Given the description of an element on the screen output the (x, y) to click on. 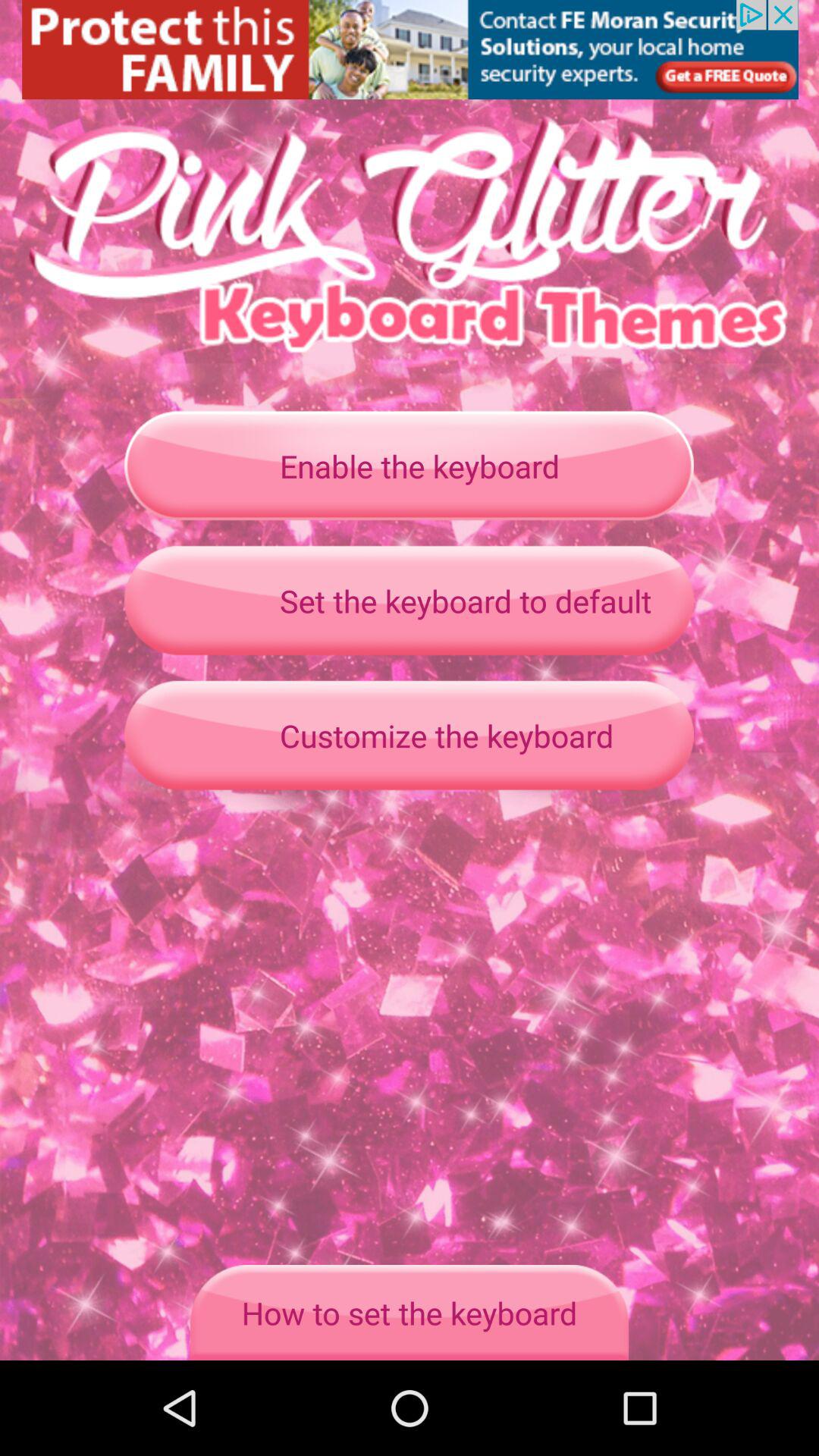
click to view advertisements options (409, 49)
